Given the description of an element on the screen output the (x, y) to click on. 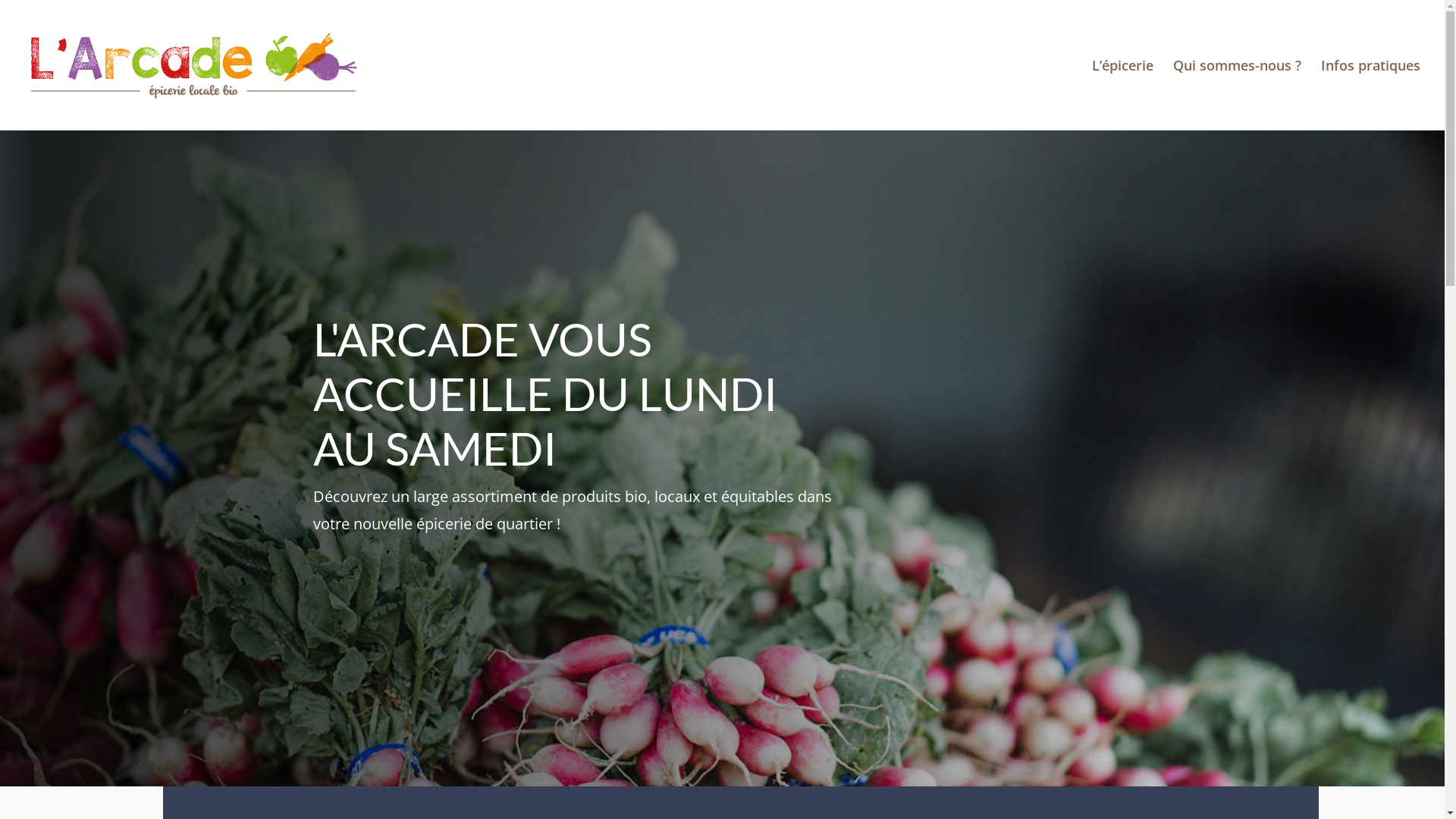
Infos pratiques Element type: text (1370, 94)
Qui sommes-nous ? Element type: text (1237, 94)
